Given the description of an element on the screen output the (x, y) to click on. 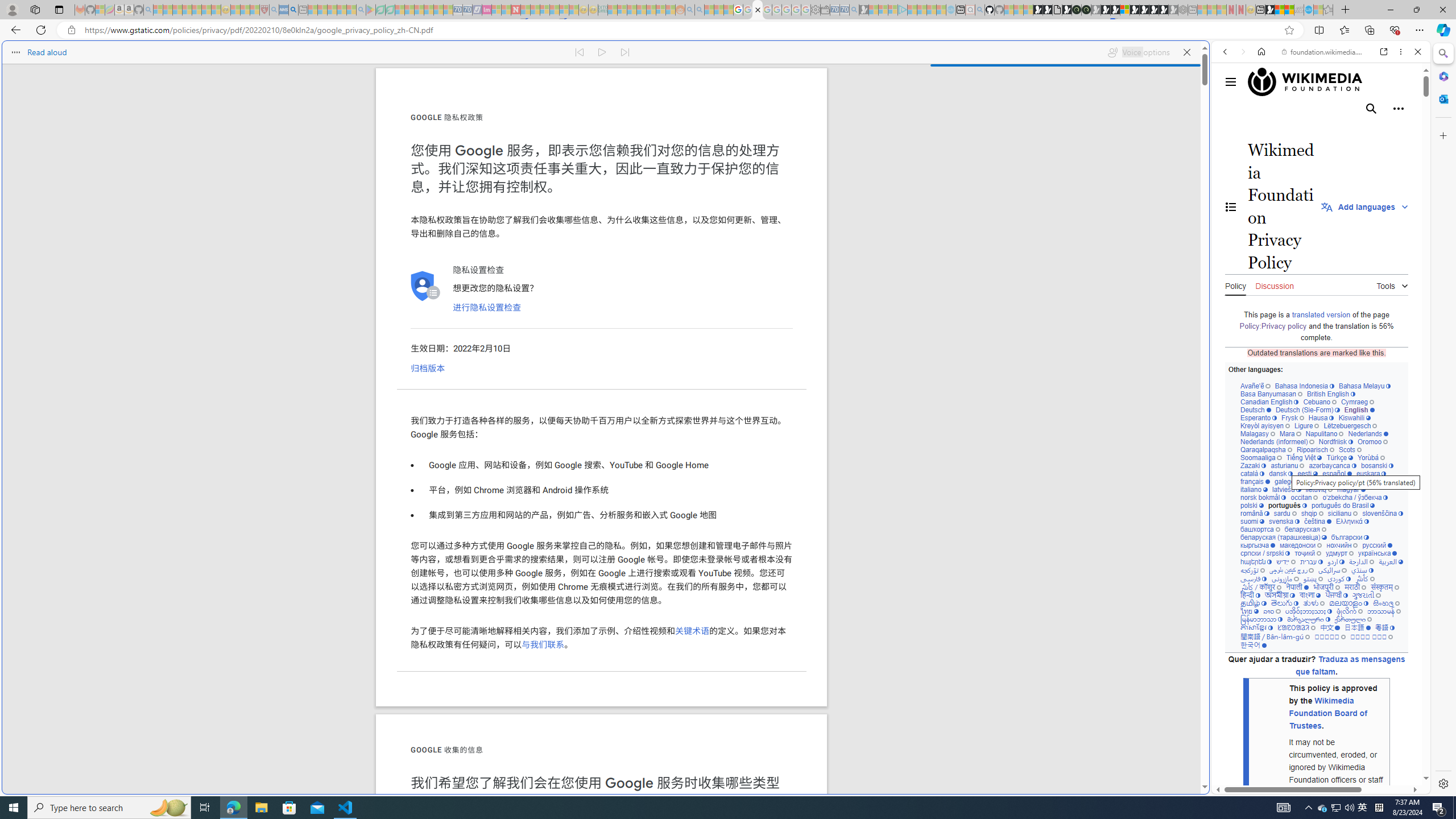
italiano (1254, 488)
Bahasa Melayu (1364, 385)
Forward (1242, 51)
Search Filter, WEB (1230, 129)
Malagasy (1257, 433)
svenska (1284, 520)
